Given the description of an element on the screen output the (x, y) to click on. 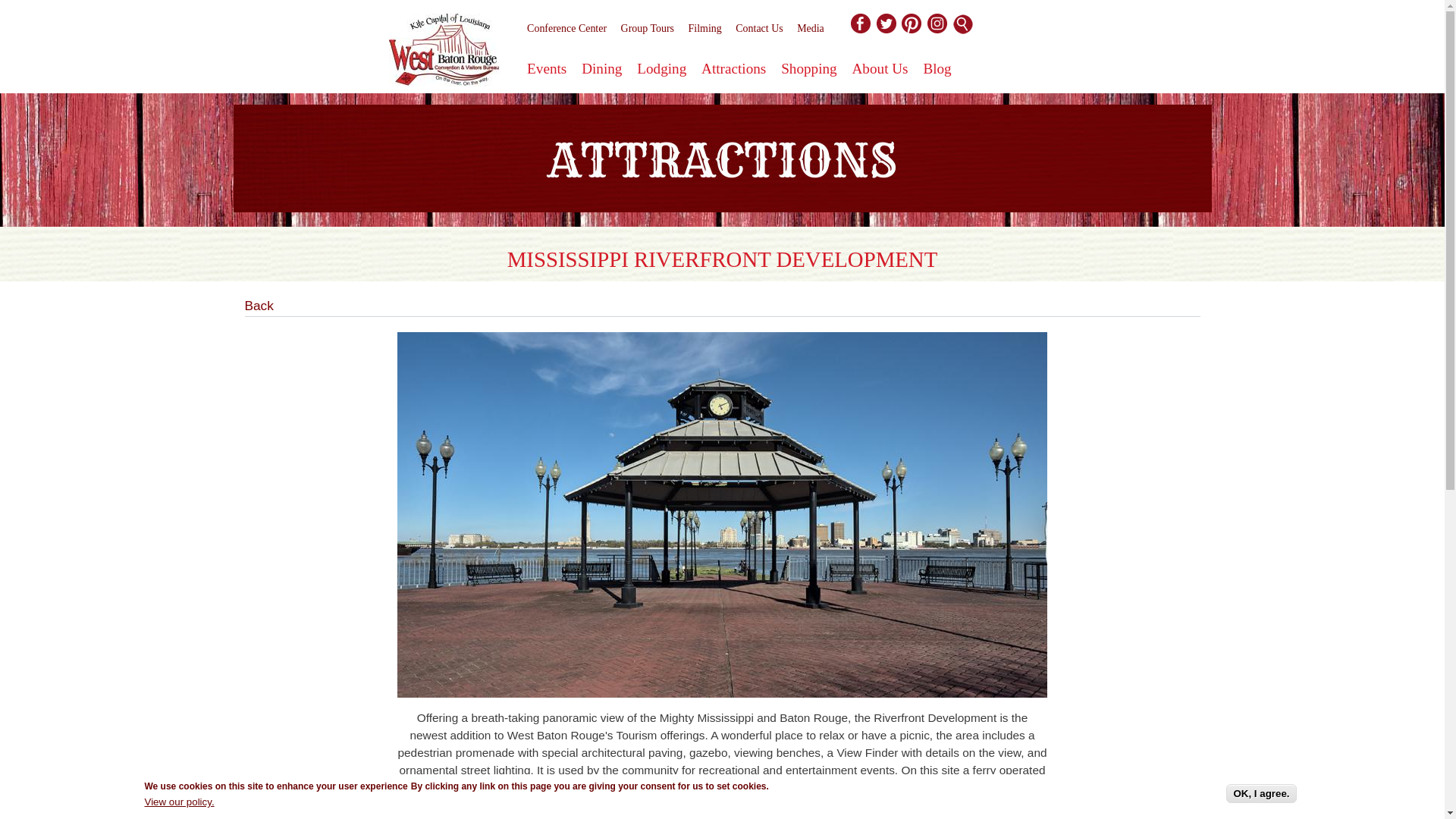
Attractions in West Baton Rouge Louisiana (721, 158)
Return to the West Baton Rouge home page (444, 53)
